Given the description of an element on the screen output the (x, y) to click on. 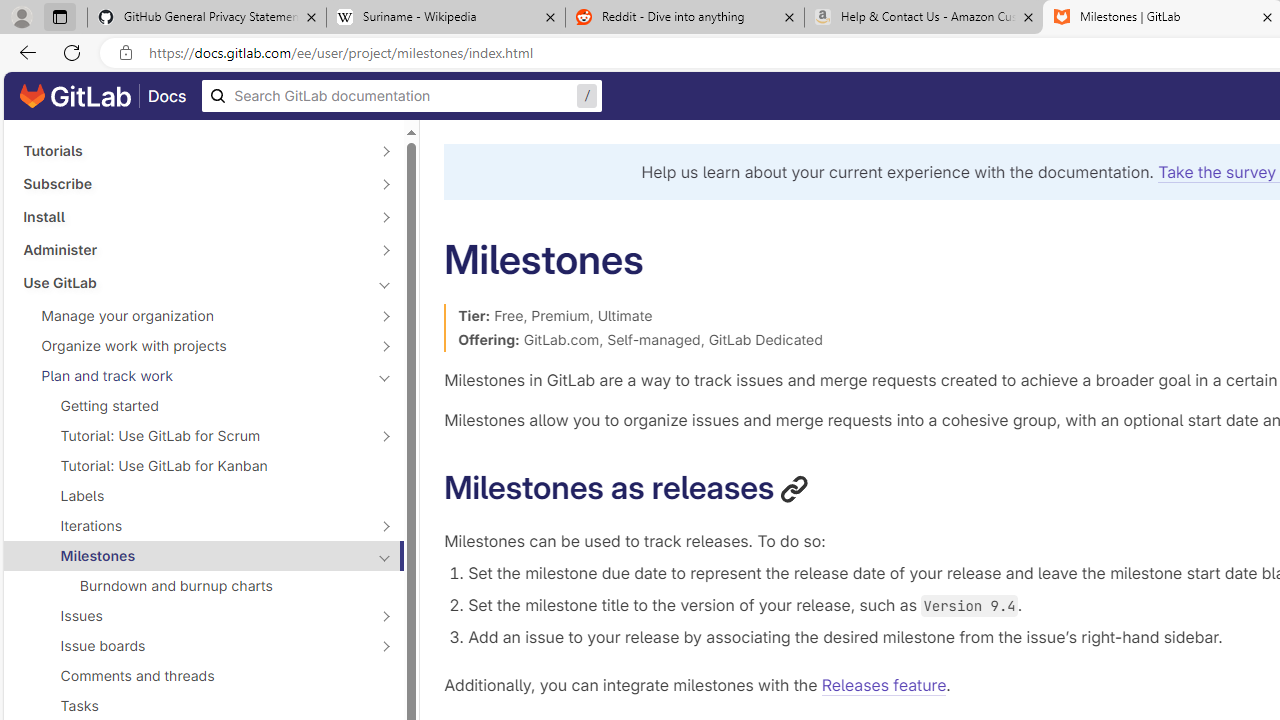
Issues (192, 615)
GitHub General Privacy Statement - GitHub Docs (207, 17)
Manage your organization (192, 315)
Administer (192, 249)
Releases feature (883, 684)
Subscribe (192, 183)
Labels (203, 495)
GitLab documentation home Docs (103, 96)
Burndown and burnup charts (203, 585)
Plan and track work (192, 375)
